Given the description of an element on the screen output the (x, y) to click on. 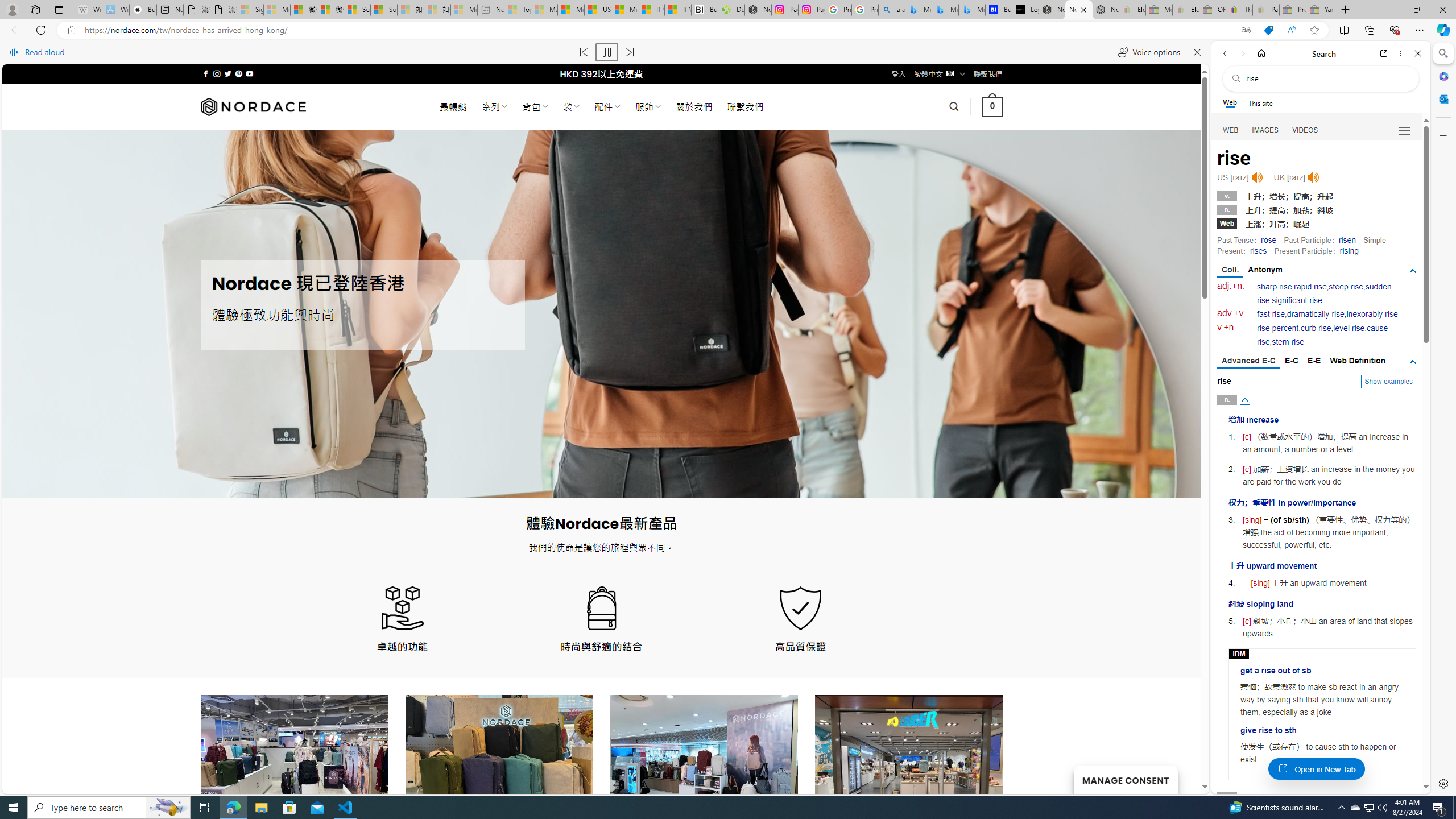
Marine life - MSN - Sleeping (543, 9)
E-C (1291, 360)
  0   (992, 106)
